Given the description of an element on the screen output the (x, y) to click on. 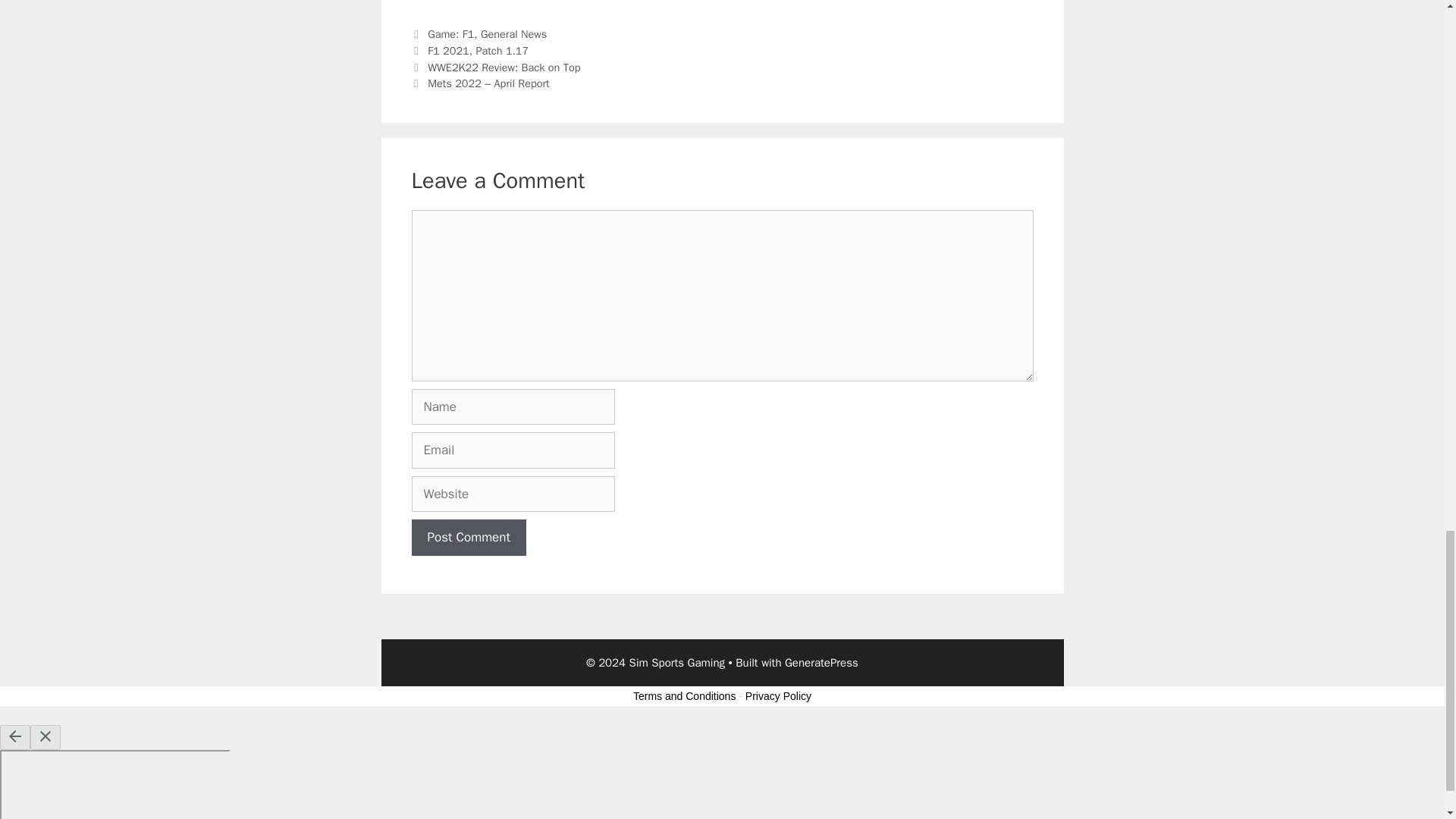
WWE2K22 Review: Back on Top (503, 67)
Post Comment (467, 537)
F1 2021 (448, 50)
Terms and Conditions (684, 695)
General News (513, 33)
Patch 1.17 (502, 50)
Post Comment (467, 537)
Privacy Policy (777, 695)
Game: F1 (451, 33)
GeneratePress (821, 662)
